Given the description of an element on the screen output the (x, y) to click on. 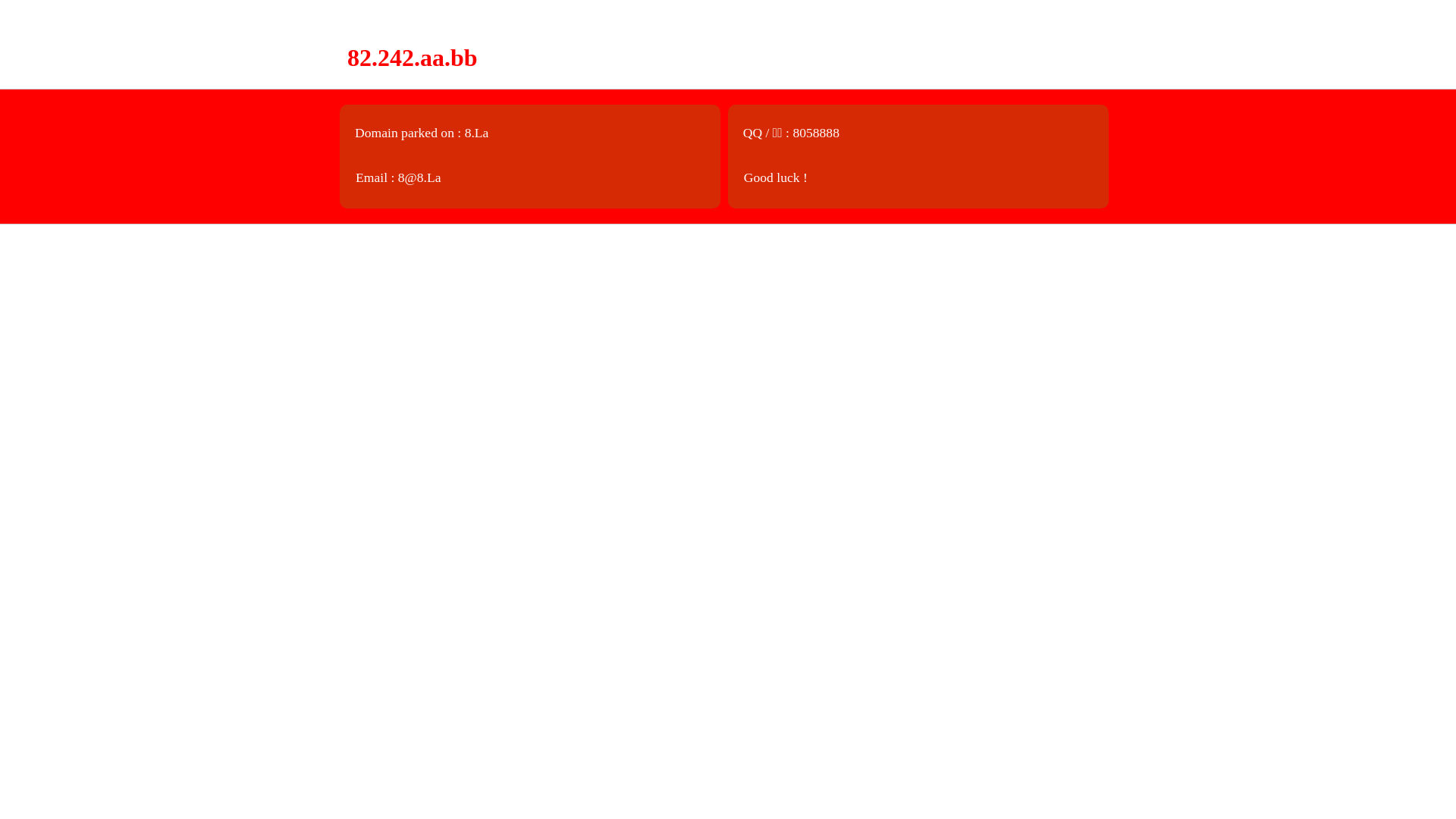
8@8.La Element type: text (419, 177)
8.La Element type: text (476, 132)
